Given the description of an element on the screen output the (x, y) to click on. 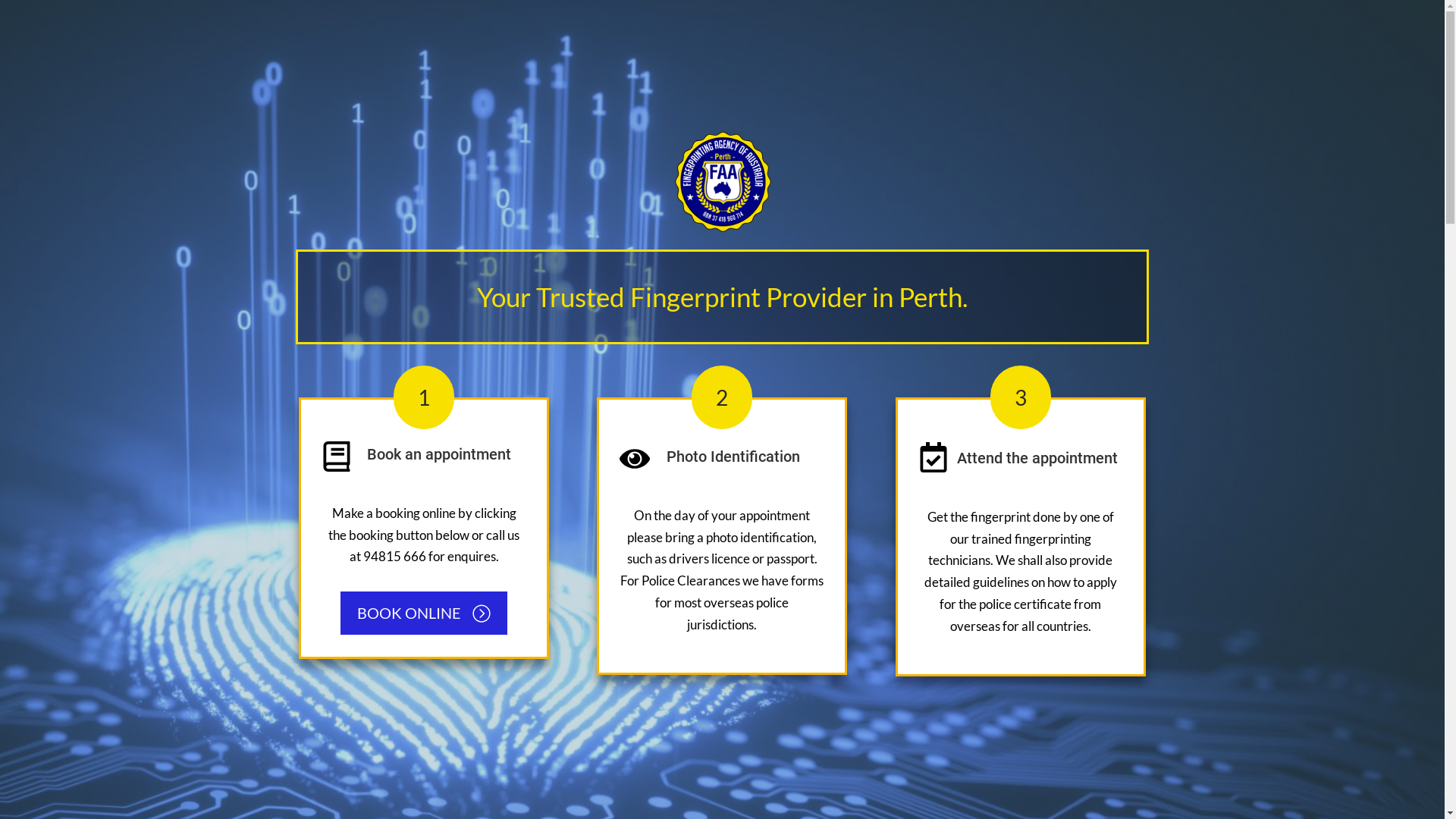
FAA-logo-trans Element type: hover (722, 181)
BOOK ONLINE Element type: text (423, 612)
